Given the description of an element on the screen output the (x, y) to click on. 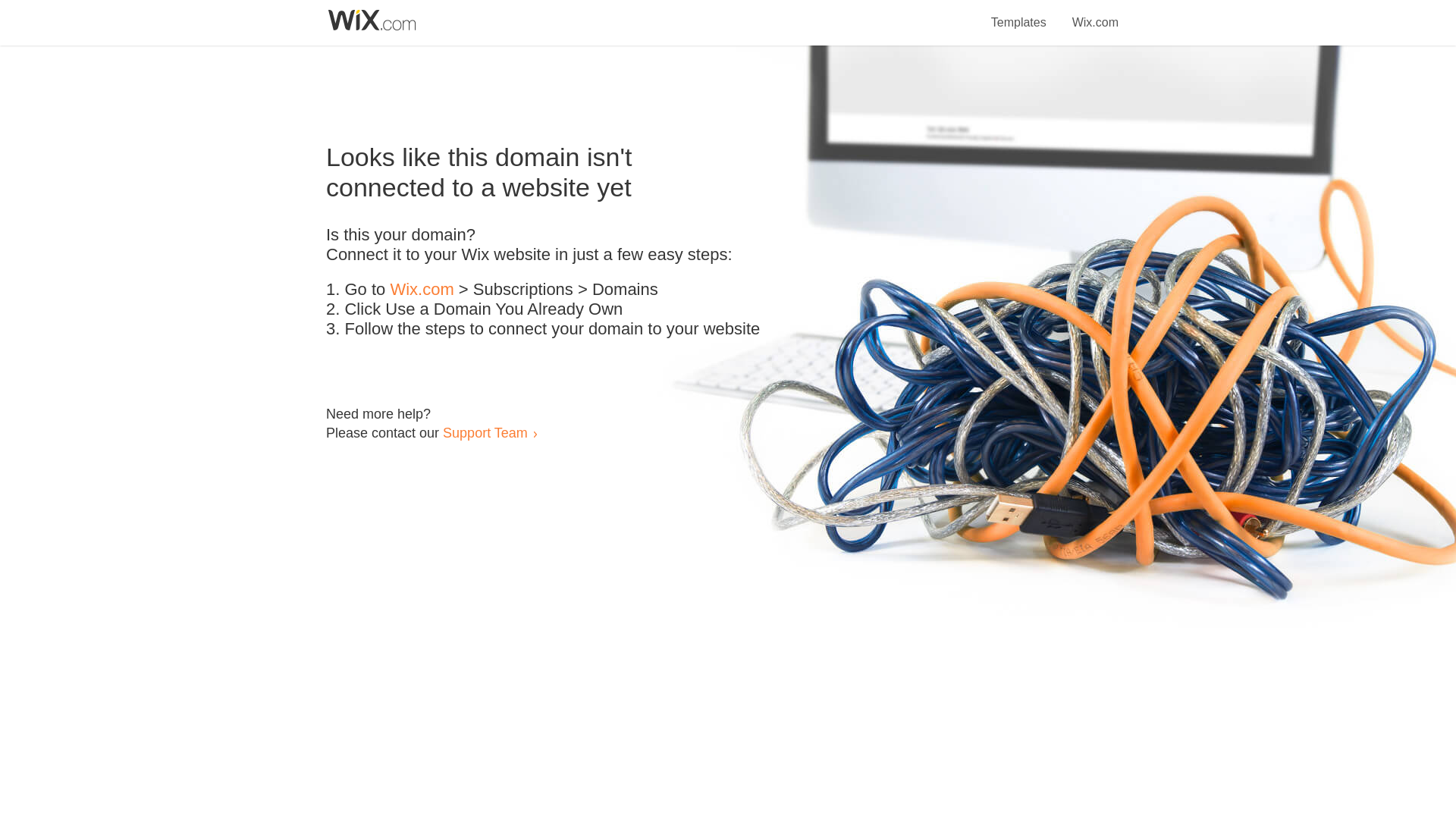
Wix.com (1095, 14)
Wix.com (421, 289)
Templates (1018, 14)
Support Team (484, 432)
